Given the description of an element on the screen output the (x, y) to click on. 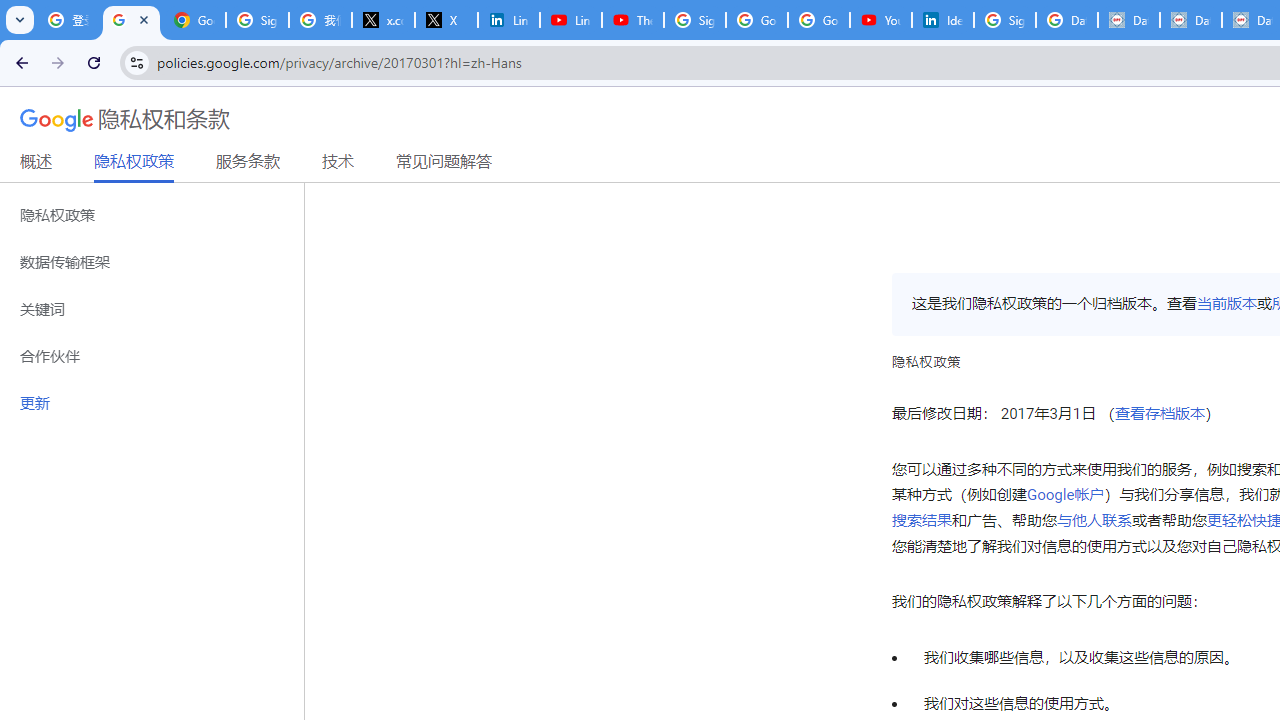
X (445, 20)
